Given the description of an element on the screen output the (x, y) to click on. 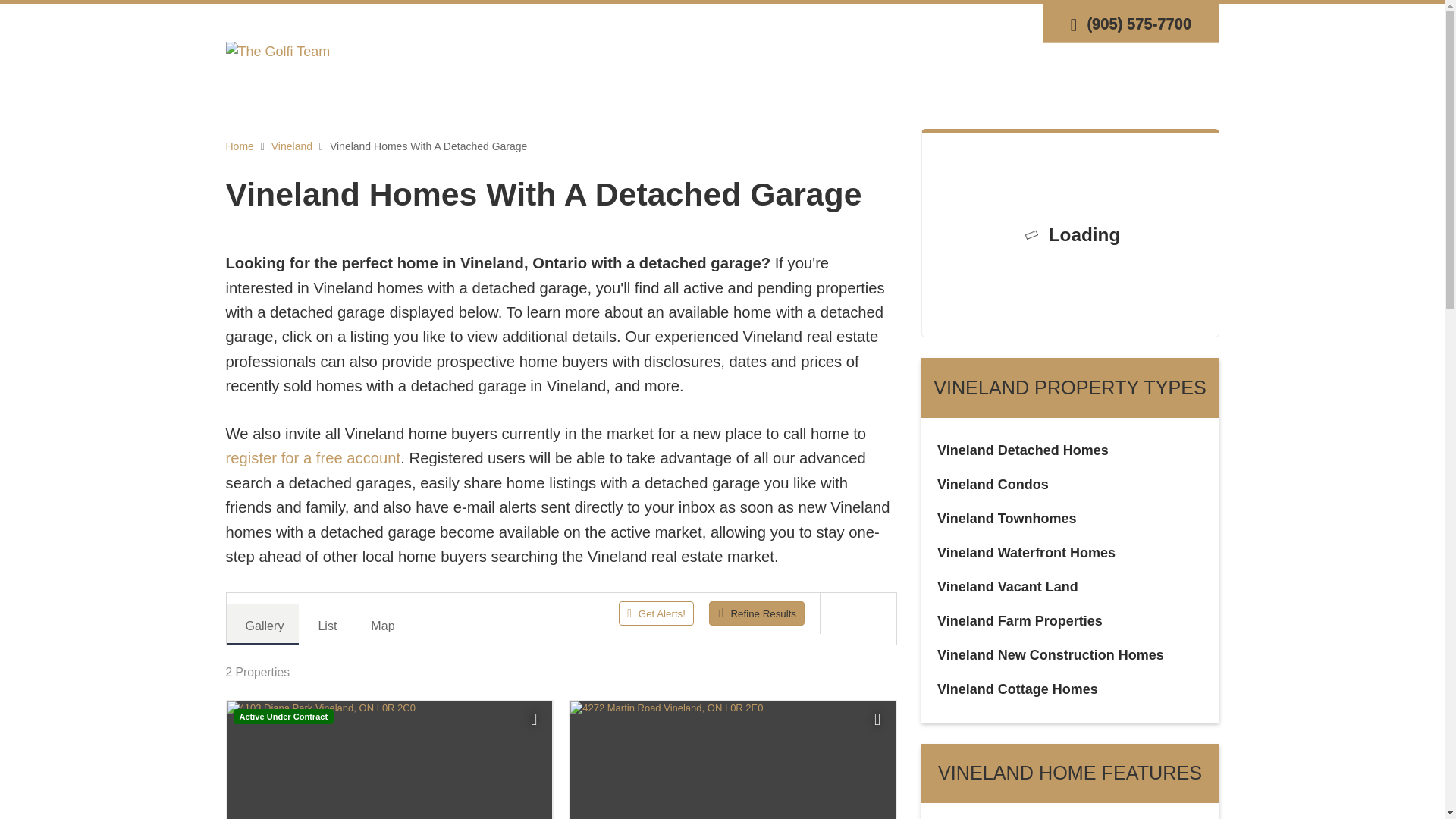
Select Language (1010, 23)
Login (876, 23)
Register (925, 23)
Home Page (277, 50)
